Given the description of an element on the screen output the (x, y) to click on. 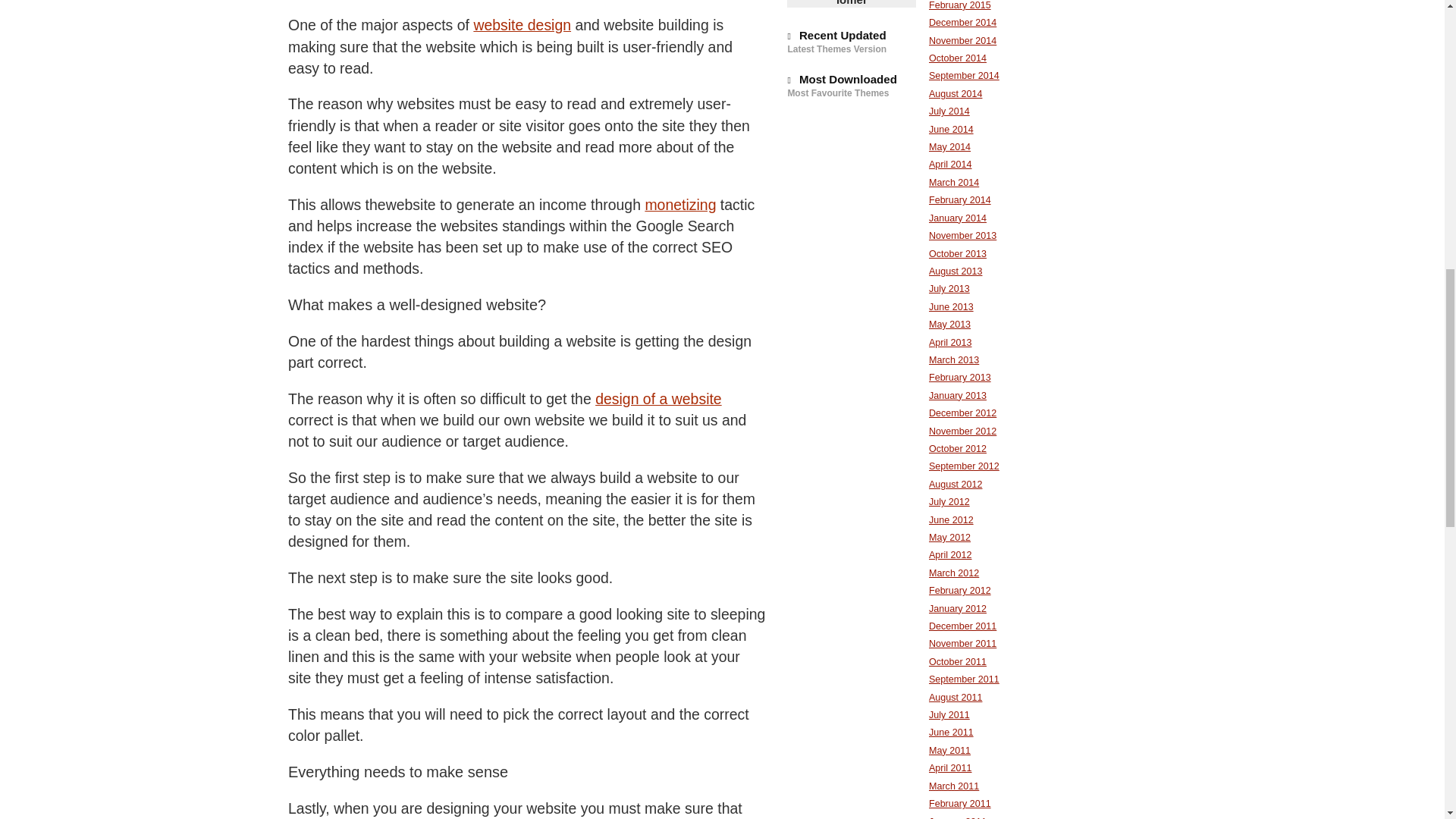
website design (521, 24)
design of a website (658, 398)
monetizing (680, 204)
